Given the description of an element on the screen output the (x, y) to click on. 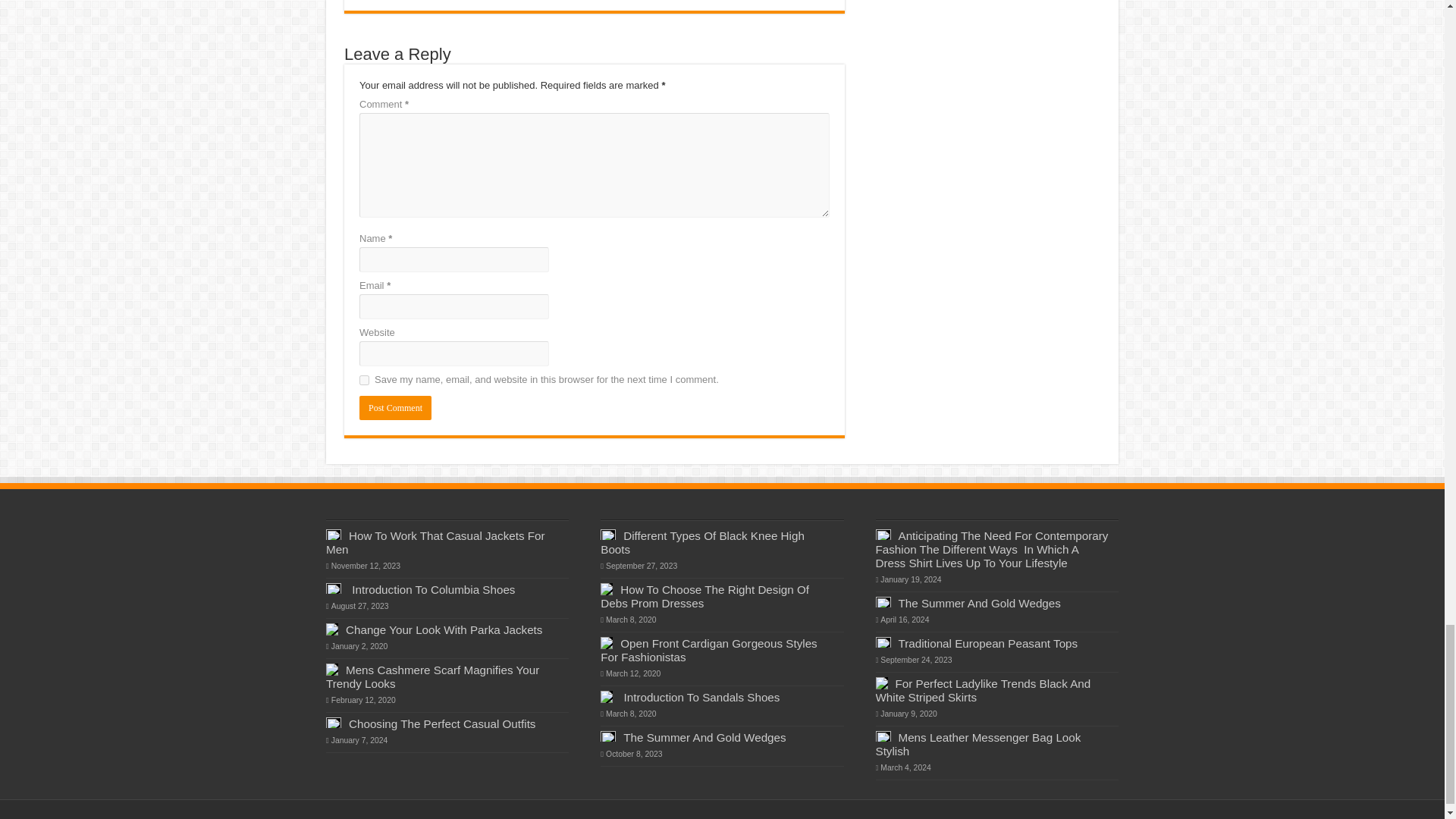
yes (364, 379)
Post Comment (394, 407)
